Given the description of an element on the screen output the (x, y) to click on. 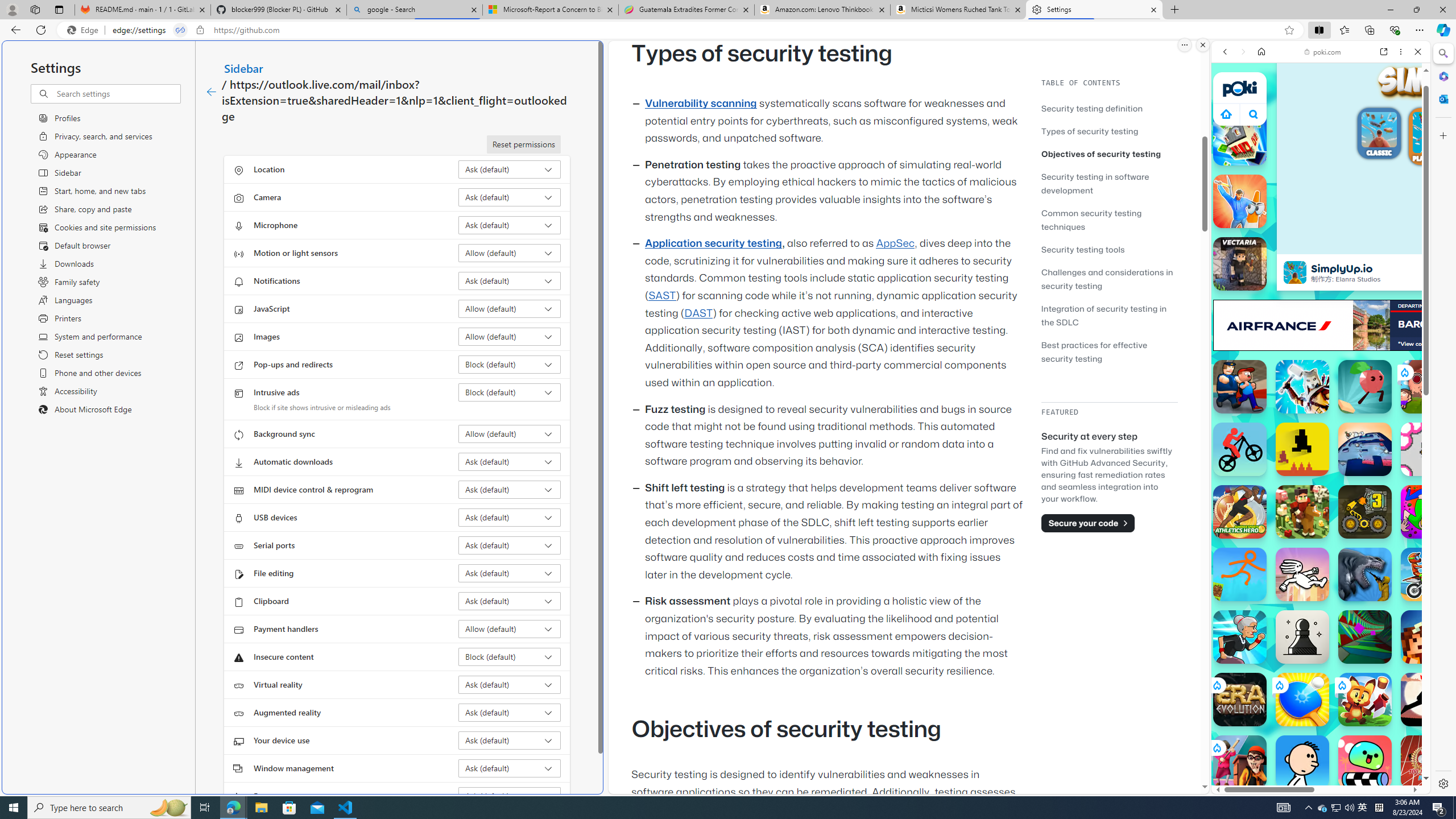
Sports Games (1320, 378)
Search Filter, VIDEOS (1300, 129)
Tunnel Rush (1364, 636)
Class: rCs5cyEiqiTpYvt_VBCR (1216, 747)
Big Tower Tiny Square Big Tower Tiny Square (1364, 448)
PLAYGROUND (1433, 137)
Angry Gran Run Angry Gran Run (1239, 636)
Pop-ups and redirects Block (default) (509, 364)
Escape From School Escape From School (1239, 386)
DAST (698, 312)
Athletics Hero (1239, 511)
SimplyUp.io (1295, 272)
Sharkosaurus Rampage Sharkosaurus Rampage (1364, 574)
